Given the description of an element on the screen output the (x, y) to click on. 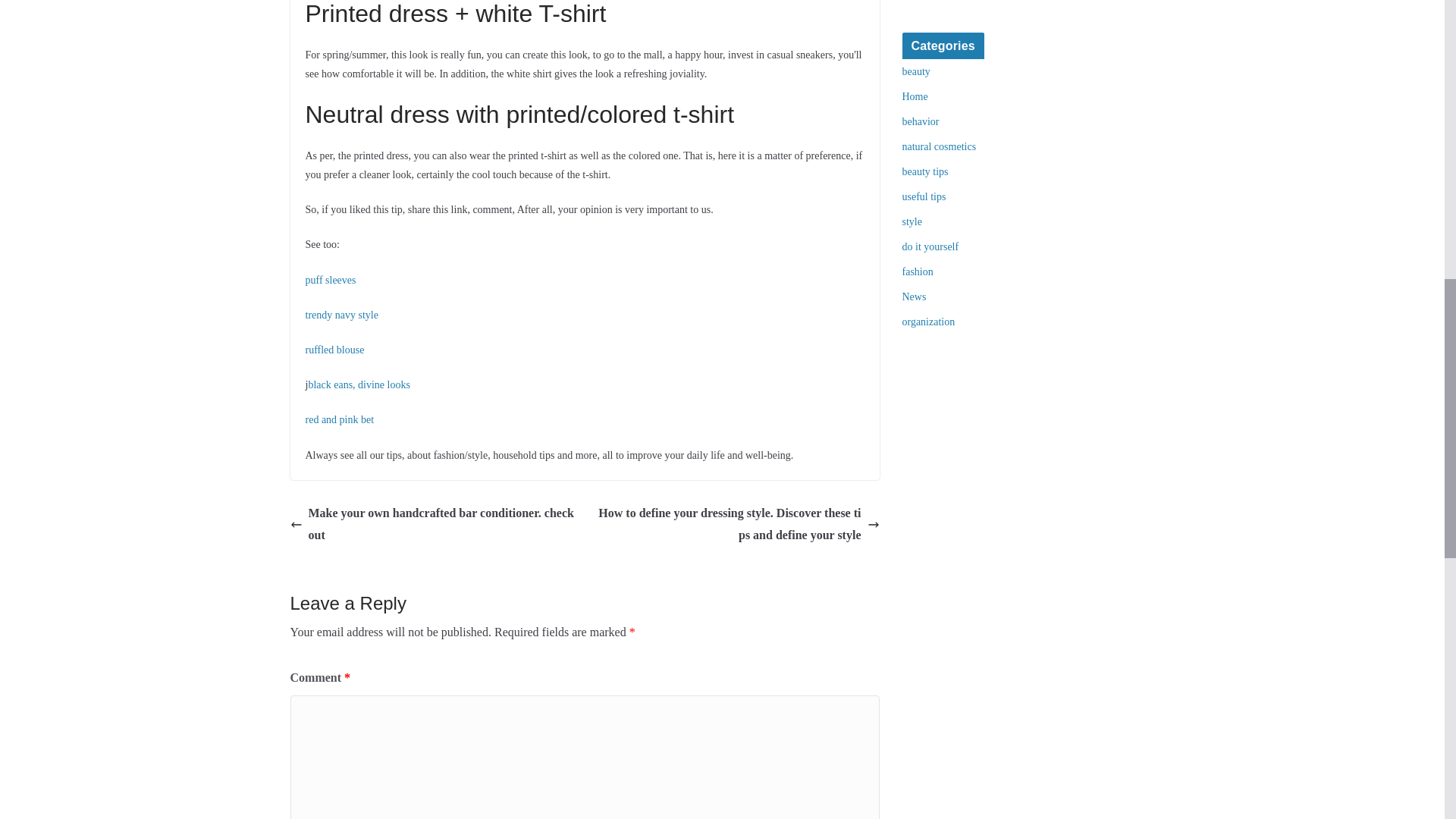
Make your own handcrafted bar conditioner. check out (432, 524)
puff sleeves (329, 279)
ruffled blouse (334, 349)
black eans, divine looks (358, 384)
trendy navy style (340, 315)
red and pink bet (339, 419)
